Given the description of an element on the screen output the (x, y) to click on. 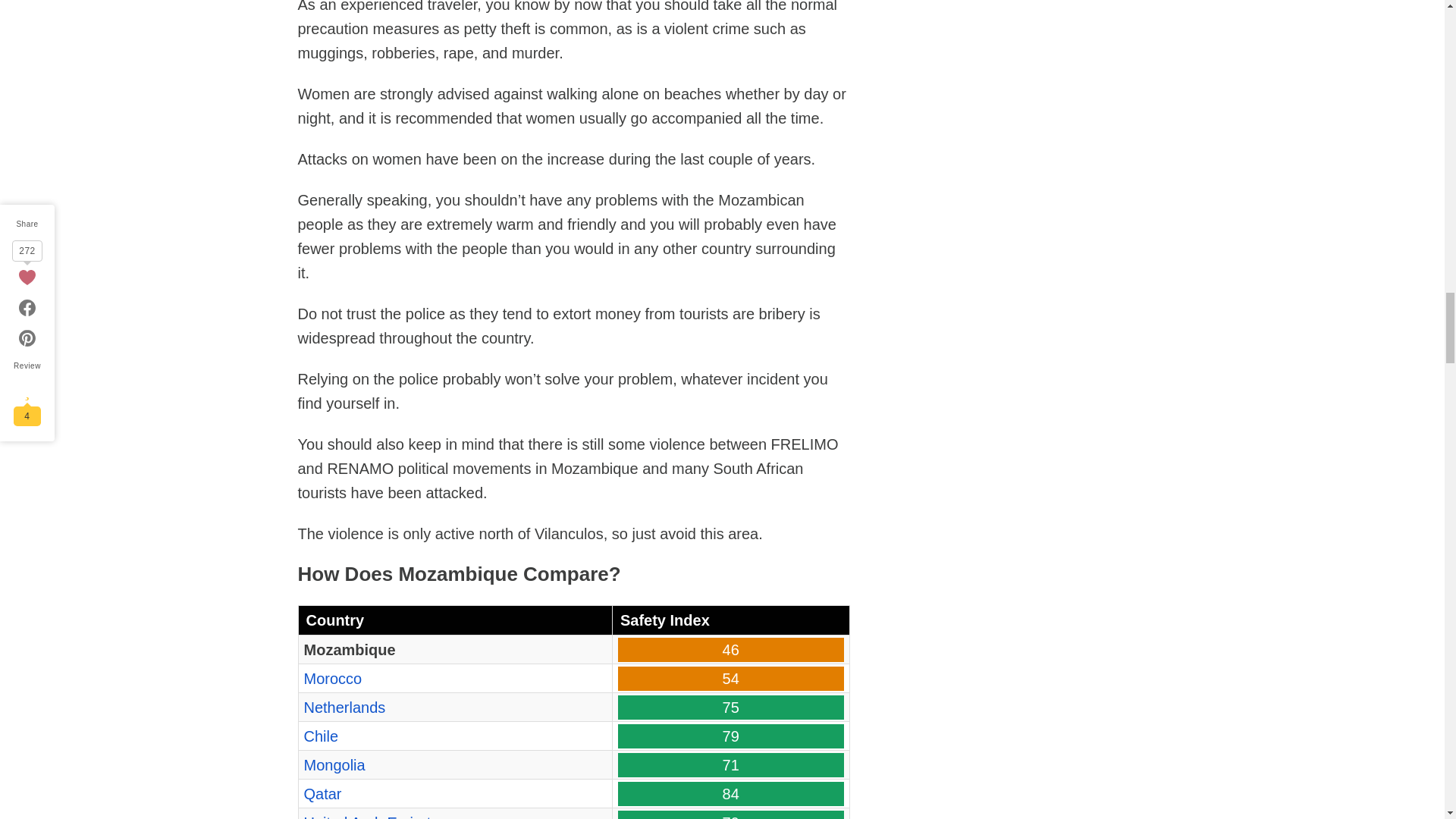
Mongolia (333, 764)
Mongolia Safety Review (333, 764)
United Arab Emirates (374, 816)
Qatar (321, 793)
Netherlands (343, 707)
United Arab Emirates Safety Review (374, 816)
Chile (319, 736)
Morocco (331, 678)
Morocco Safety Review (331, 678)
Netherlands Safety Review (343, 707)
